Given the description of an element on the screen output the (x, y) to click on. 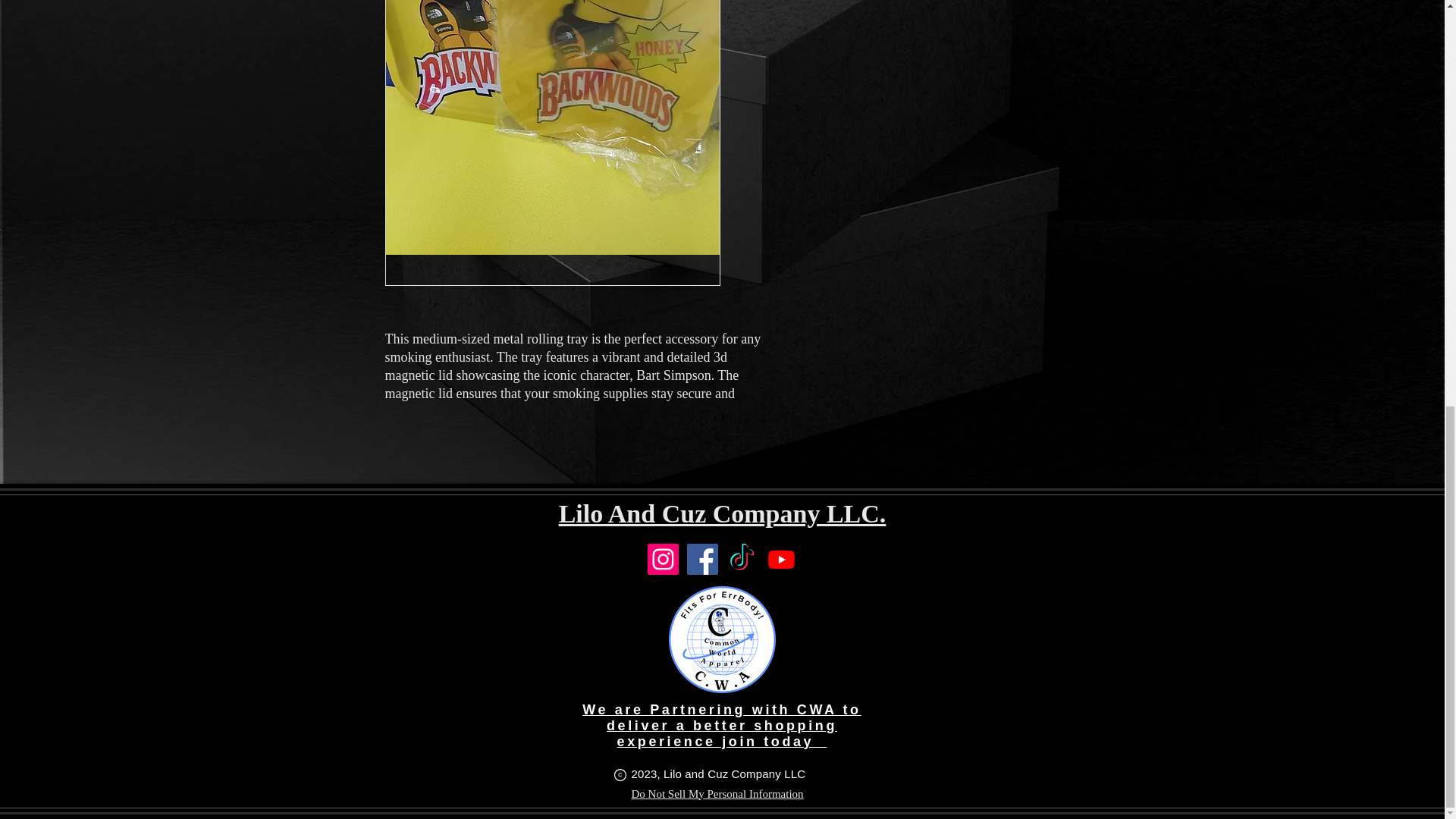
Do Not Sell My Personal Information (716, 794)
Lilo And Cuz Company LLC. (722, 513)
